Given the description of an element on the screen output the (x, y) to click on. 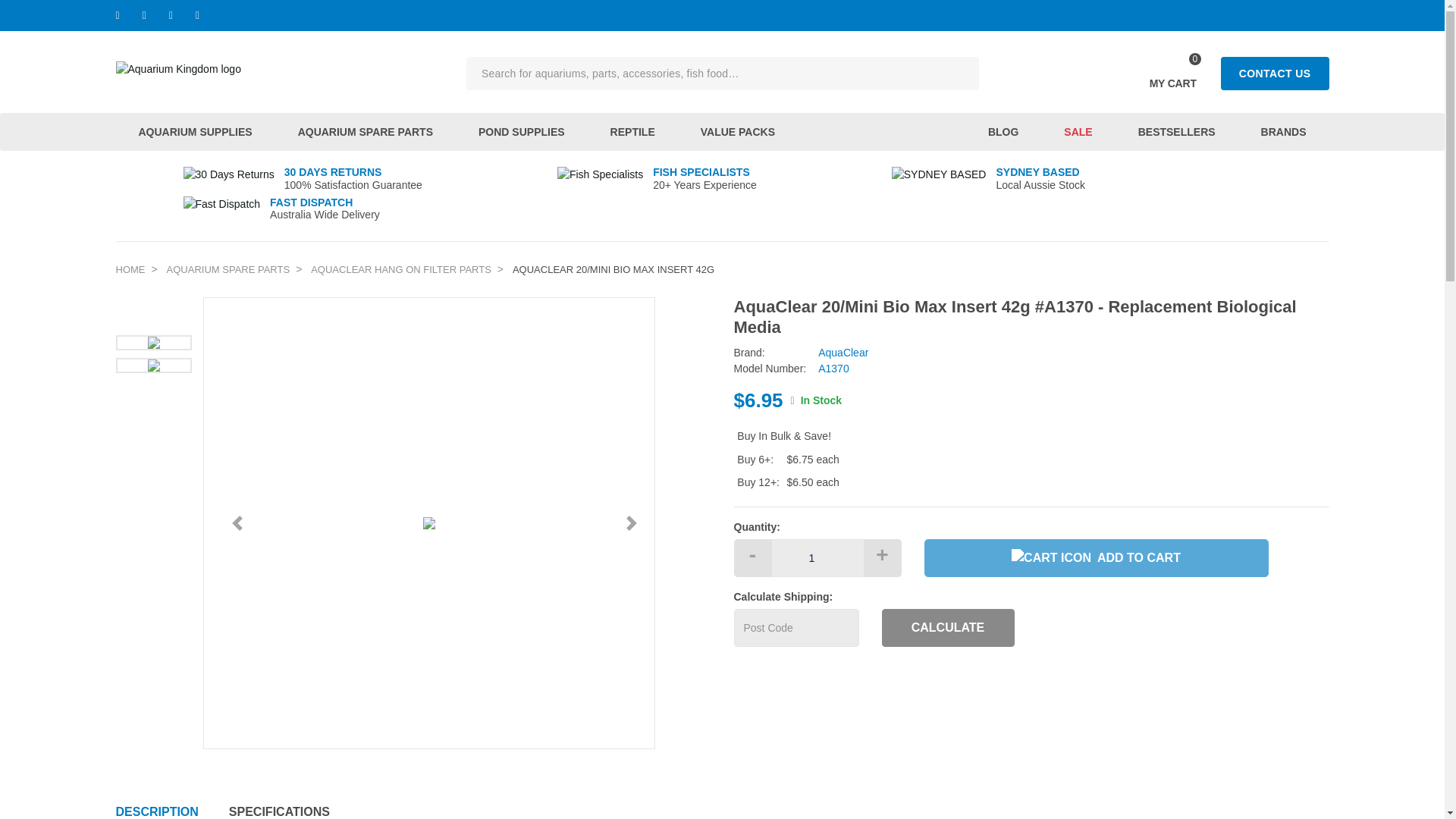
Large View (152, 342)
Large View (152, 365)
CONTACT US (1275, 73)
Calculate (946, 628)
1 (817, 557)
AQUARIUM SUPPLIES (195, 131)
Aquarium Kingdom (1172, 73)
Search (177, 68)
